Given the description of an element on the screen output the (x, y) to click on. 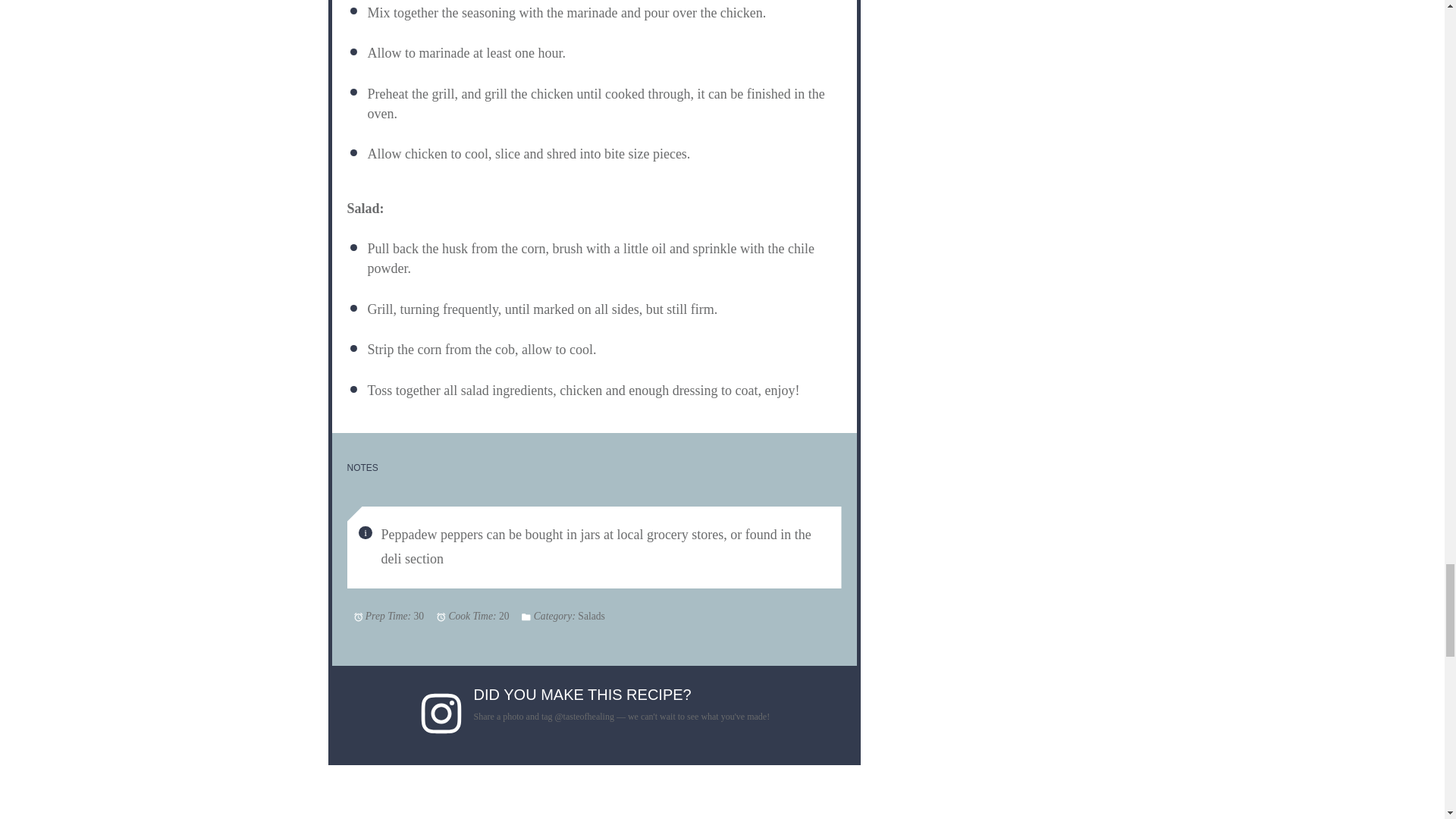
Previous (414, 816)
